Given the description of an element on the screen output the (x, y) to click on. 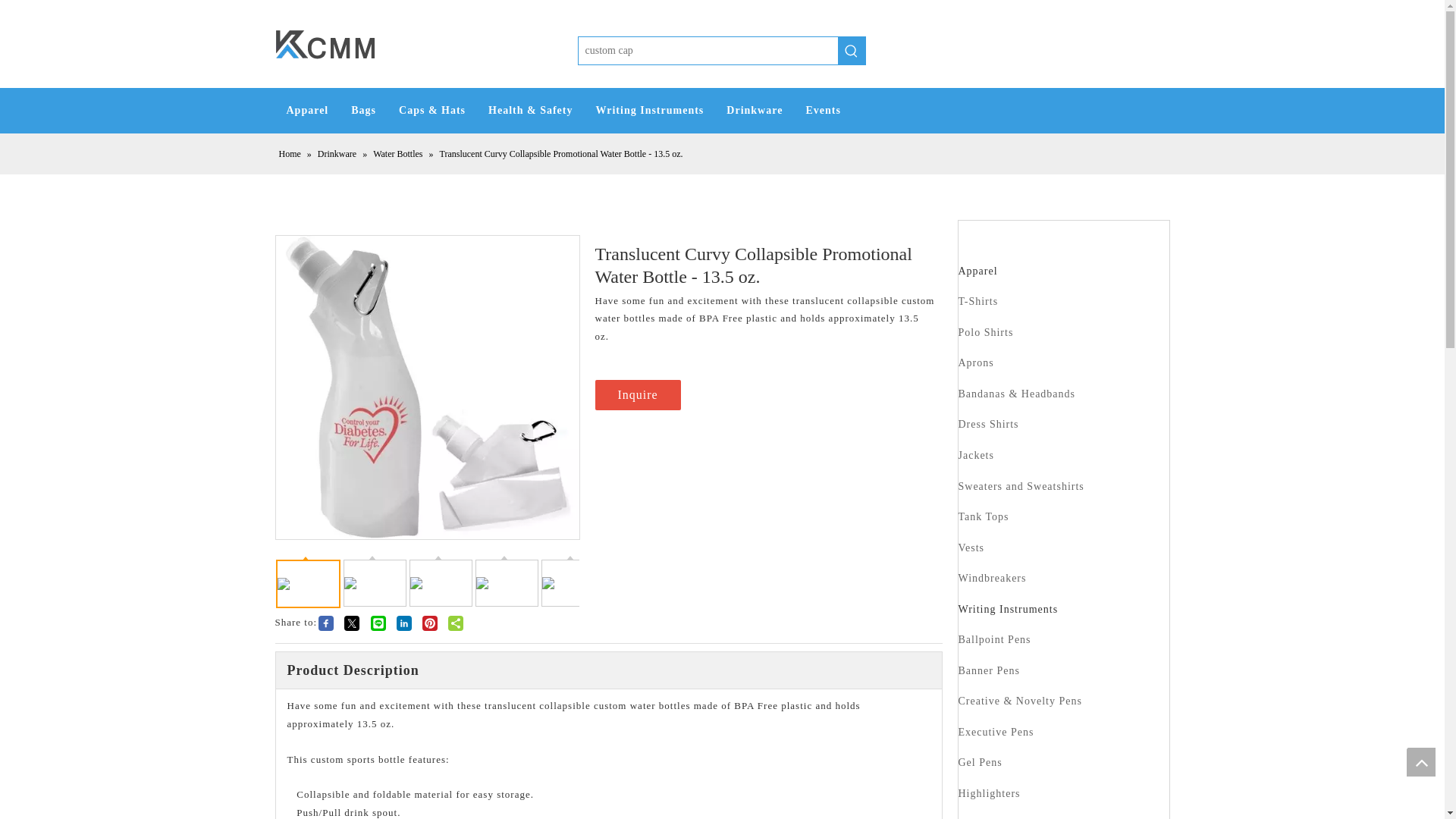
Writing Instruments (1063, 302)
Apparel (1063, 271)
Apparel (307, 110)
Bags (363, 110)
Writing Instruments (648, 110)
kcmm (325, 43)
